Given the description of an element on the screen output the (x, y) to click on. 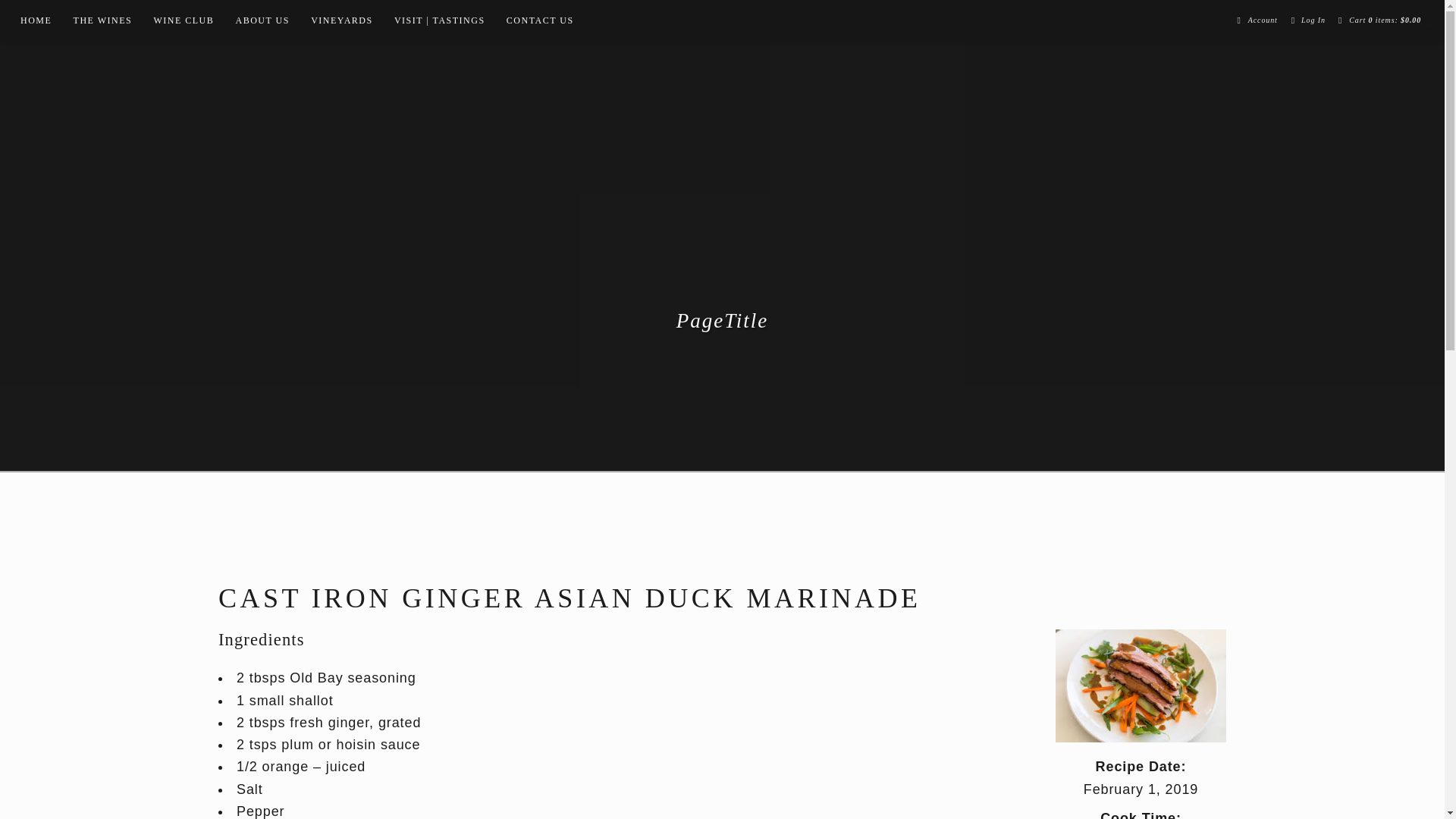
HOME (36, 20)
ABOUT US (261, 20)
CONTACT US (540, 20)
THE WINES (102, 20)
VINEYARDS (341, 20)
WINE CLUB (183, 20)
Michael Mondavi Family Estate Home (722, 212)
